Given the description of an element on the screen output the (x, y) to click on. 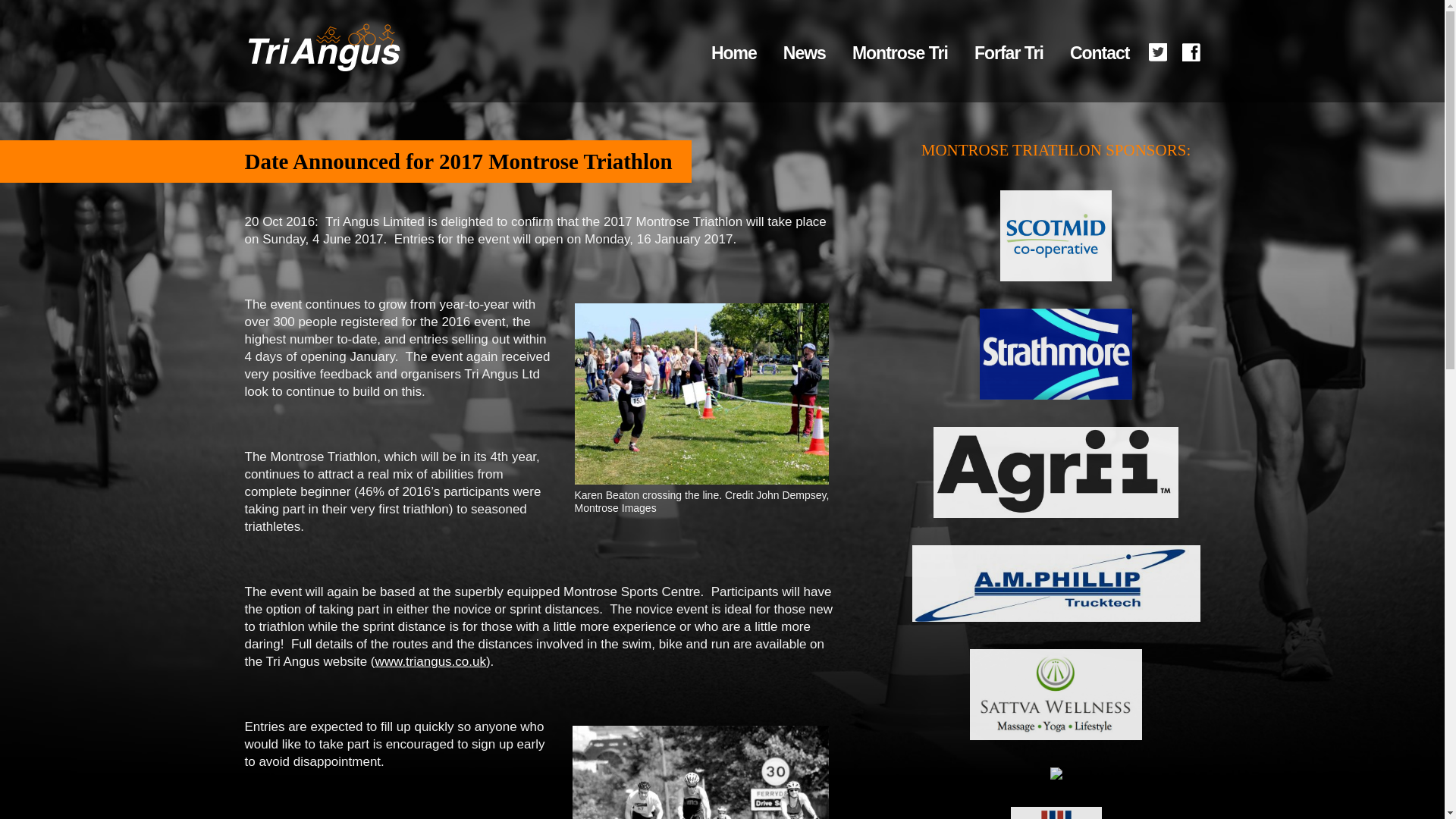
News (804, 52)
Montrose Tri (899, 52)
www.triangus.co.uk (429, 661)
Forfar Tri (1008, 52)
Home (733, 52)
Contact (1099, 52)
